Given the description of an element on the screen output the (x, y) to click on. 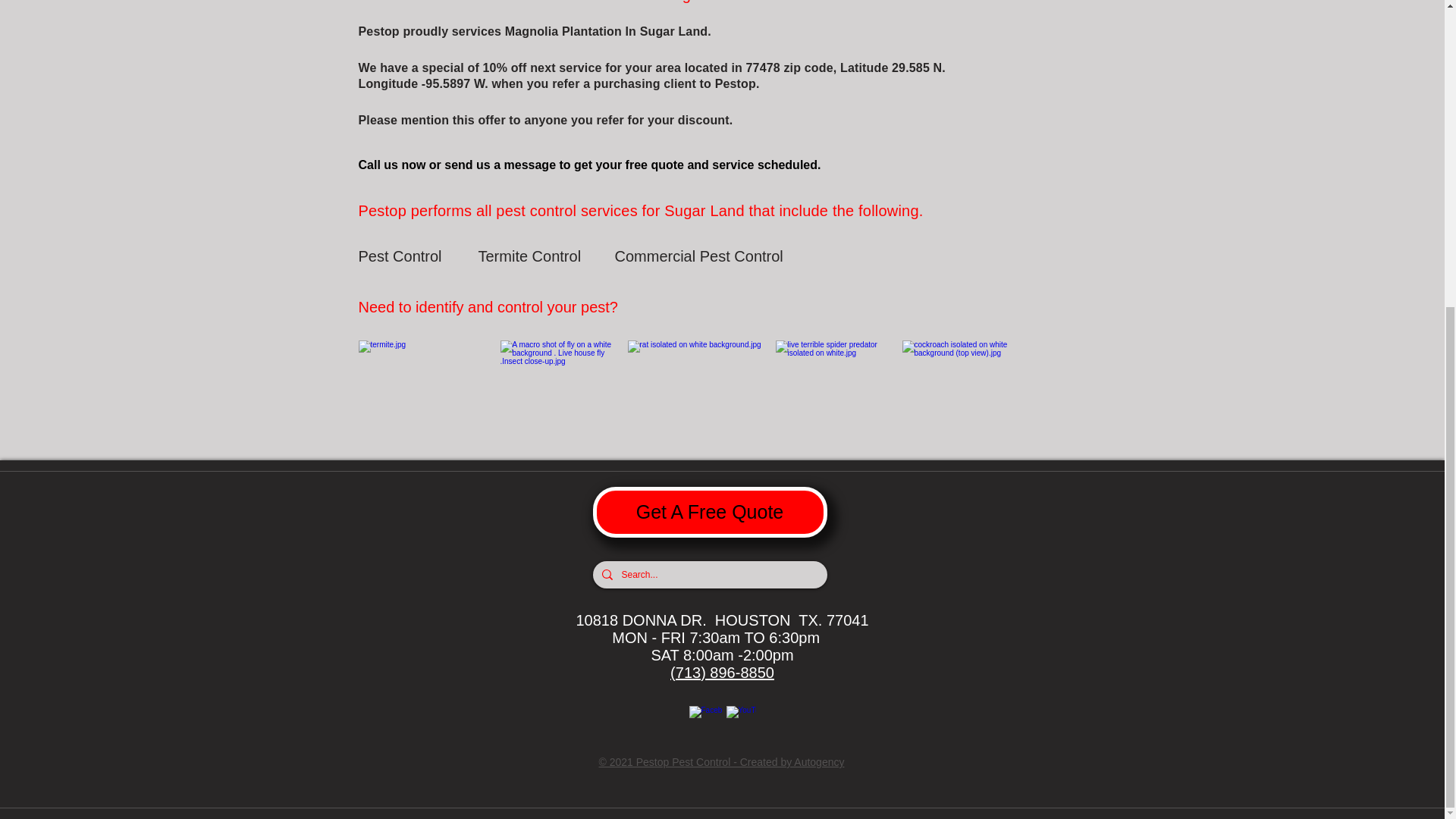
Commercial Pest Control (698, 255)
Get A Free Quote (709, 511)
Termite Control (531, 255)
Pest Control (411, 255)
Need to identify and control your pest? (496, 306)
